Given the description of an element on the screen output the (x, y) to click on. 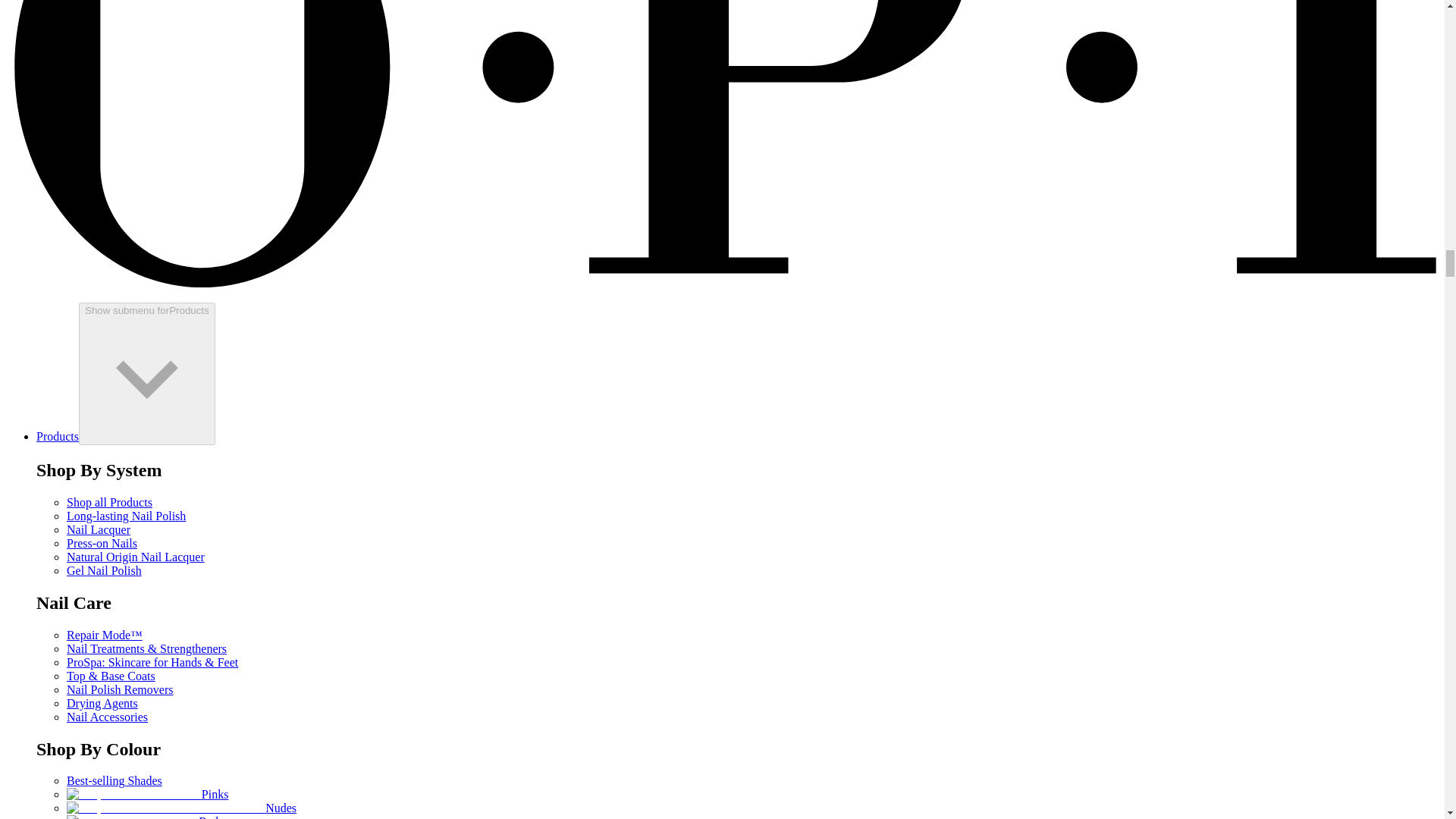
Nail Accessories (107, 716)
Pinks (147, 793)
Products (57, 436)
Press-on Nails (101, 543)
Nudes (181, 807)
Reds (144, 816)
Shop all Nude and Neutral Nail Polish (165, 807)
Drying Agents (102, 703)
Shop all Pink Nail Polish (134, 794)
Long-lasting Nail Polish (126, 515)
